Given the description of an element on the screen output the (x, y) to click on. 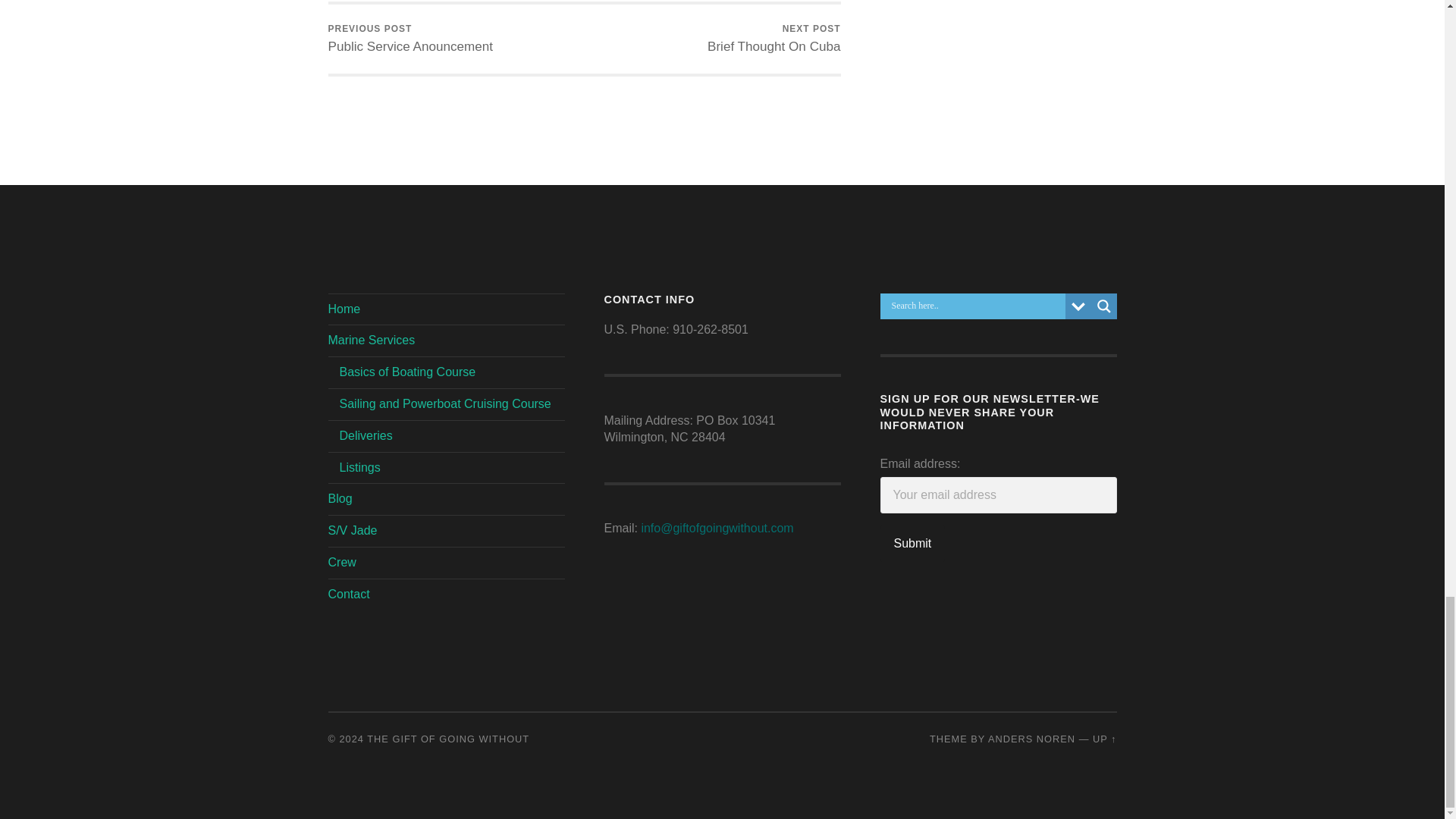
Submit (911, 543)
To the top (410, 38)
